Given the description of an element on the screen output the (x, y) to click on. 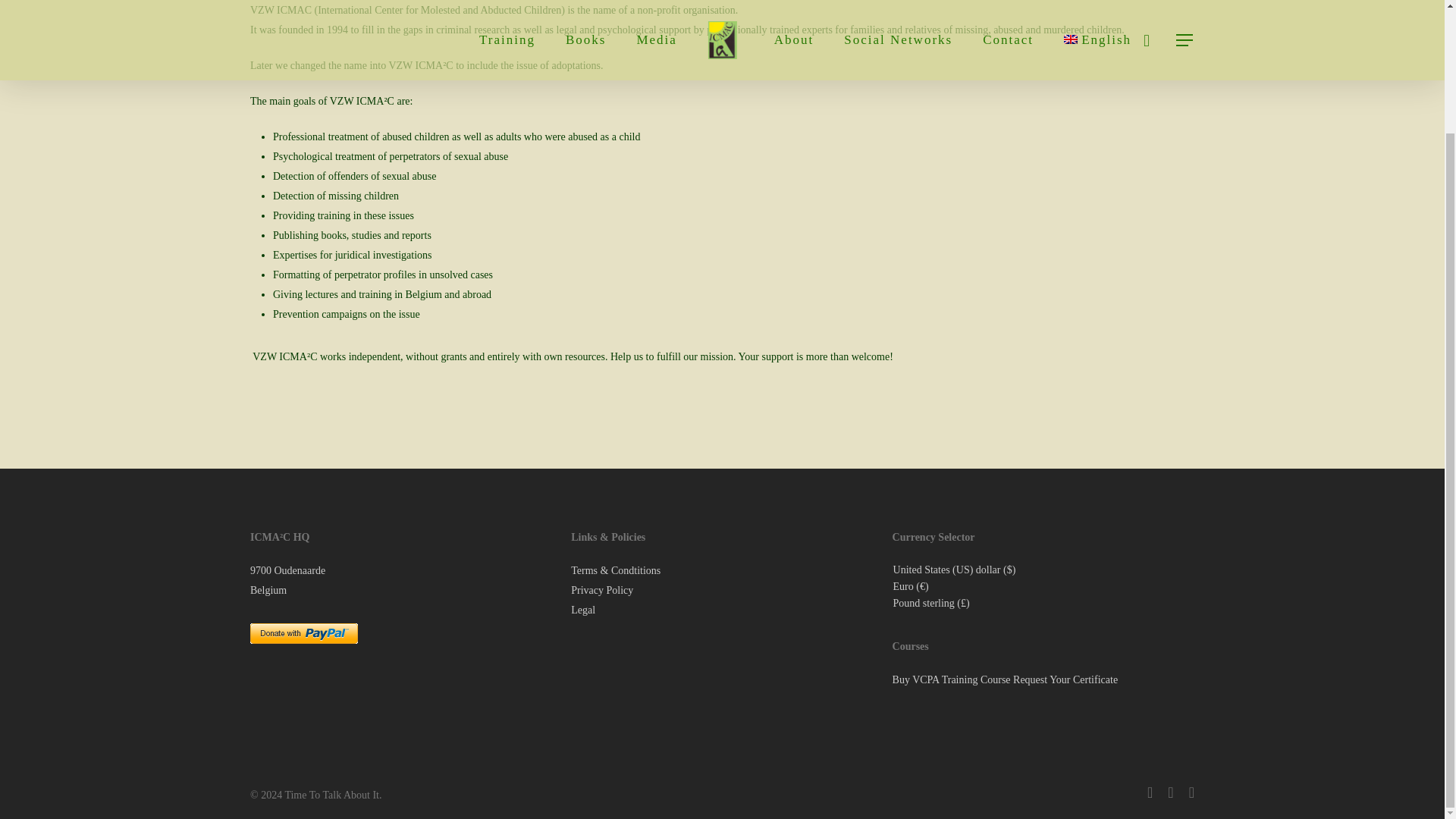
Privacy Policy (601, 441)
Buy VCPA Training Course (951, 531)
Request Your Certificate (1065, 531)
Legal (582, 460)
